Given the description of an element on the screen output the (x, y) to click on. 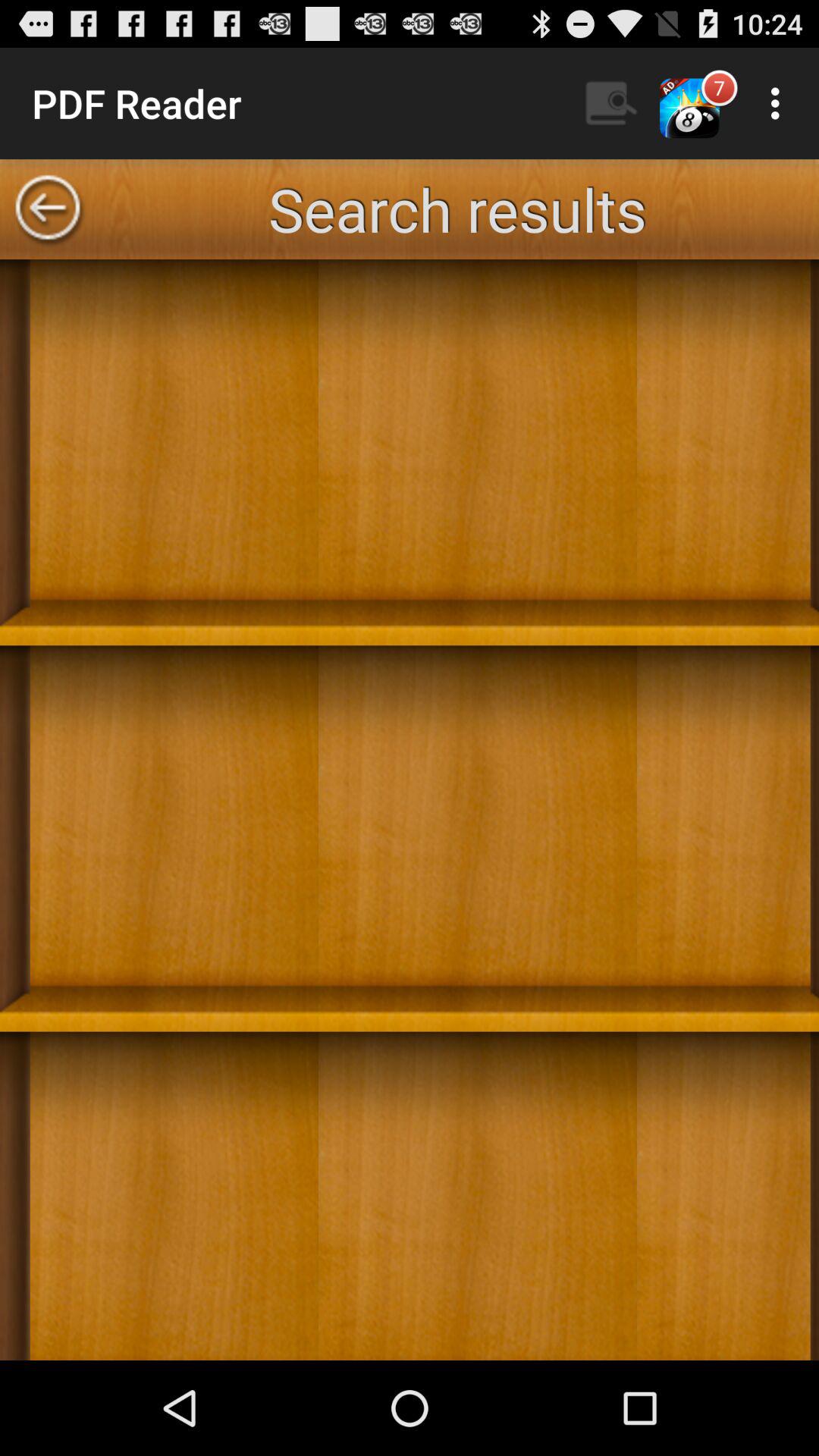
turn off the icon at the center (409, 809)
